Given the description of an element on the screen output the (x, y) to click on. 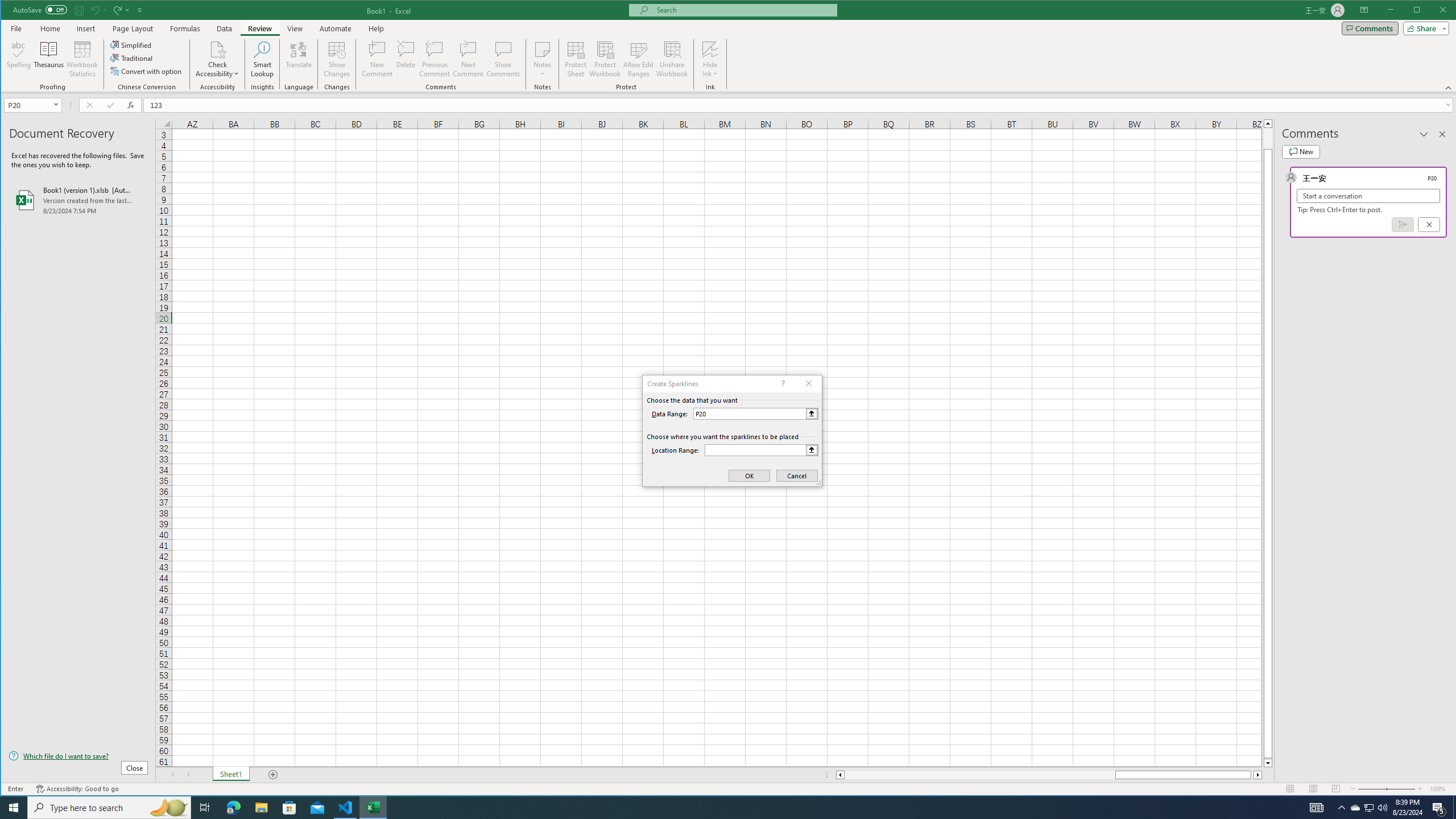
Notes (541, 59)
Allow Edit Ranges (638, 59)
New Comment (377, 59)
Convert with option (146, 70)
